Given the description of an element on the screen output the (x, y) to click on. 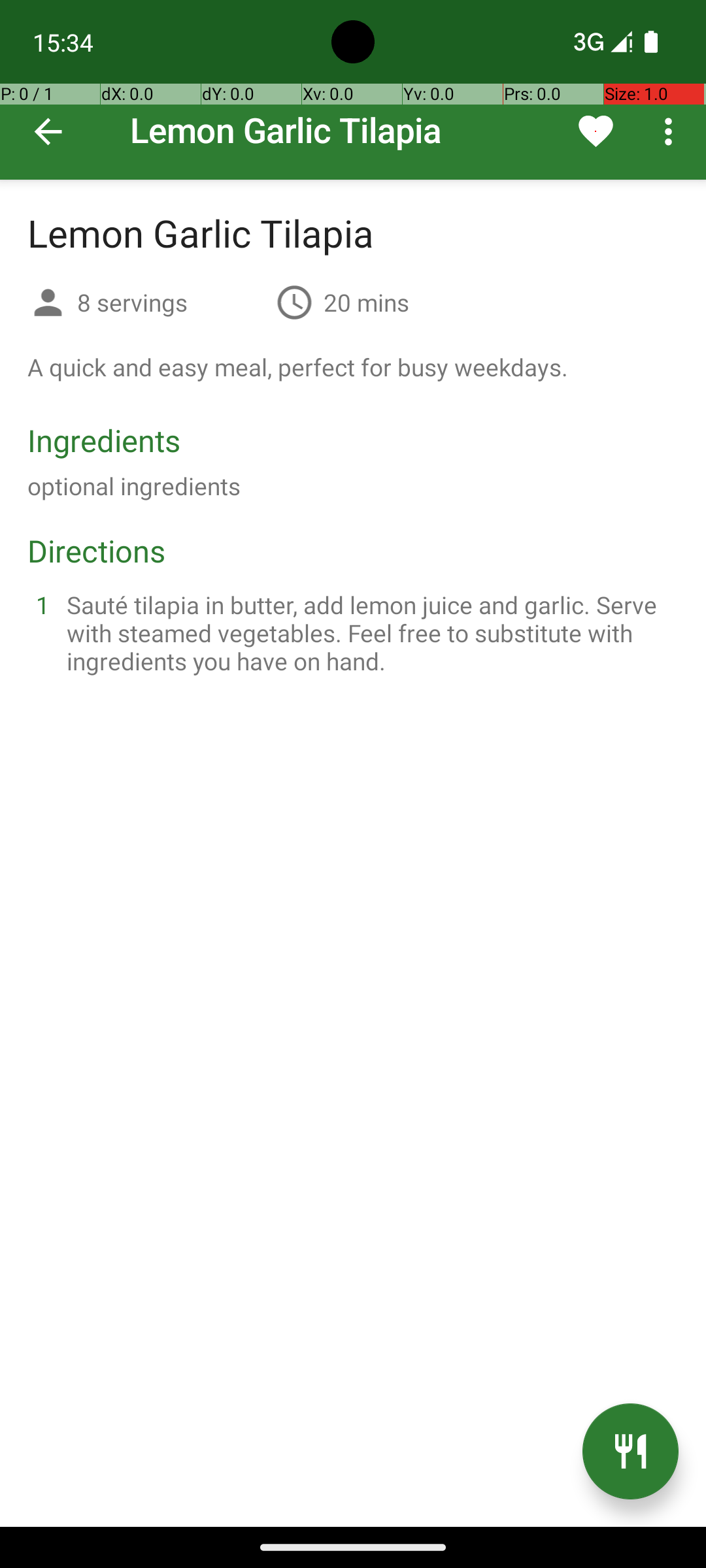
Lemon Garlic Tilapia Element type: android.widget.FrameLayout (353, 89)
20 mins Element type: android.widget.TextView (366, 301)
optional ingredients Element type: android.widget.TextView (133, 485)
Sauté tilapia in butter, add lemon juice and garlic. Serve with steamed vegetables. Feel free to substitute with ingredients you have on hand. Element type: android.widget.TextView (368, 632)
